Given the description of an element on the screen output the (x, y) to click on. 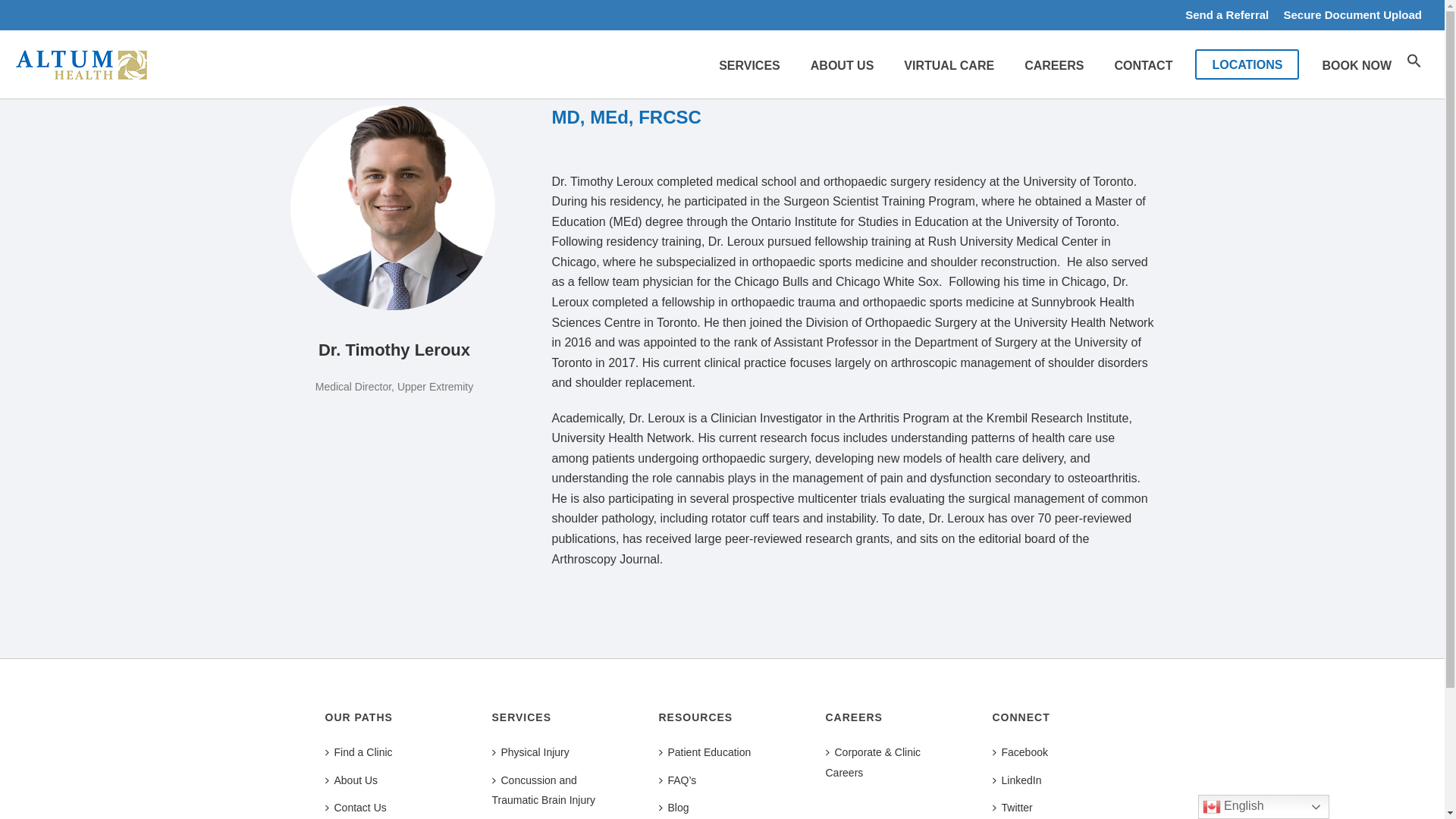
VIRTUAL CARE (948, 64)
CONTACT (1143, 64)
Secure Document Upload (1352, 14)
CONTACT (1143, 64)
LOCATIONS (1246, 64)
ABOUT US (841, 64)
SERVICES (748, 64)
CAREERS (1054, 64)
BOOK NOW (1356, 64)
VIRTUAL CARE (948, 64)
SERVICES (748, 64)
BOOK NOW (1356, 64)
ABOUT US (841, 64)
Send a Referral (1232, 14)
CAREERS (1054, 64)
